Given the description of an element on the screen output the (x, y) to click on. 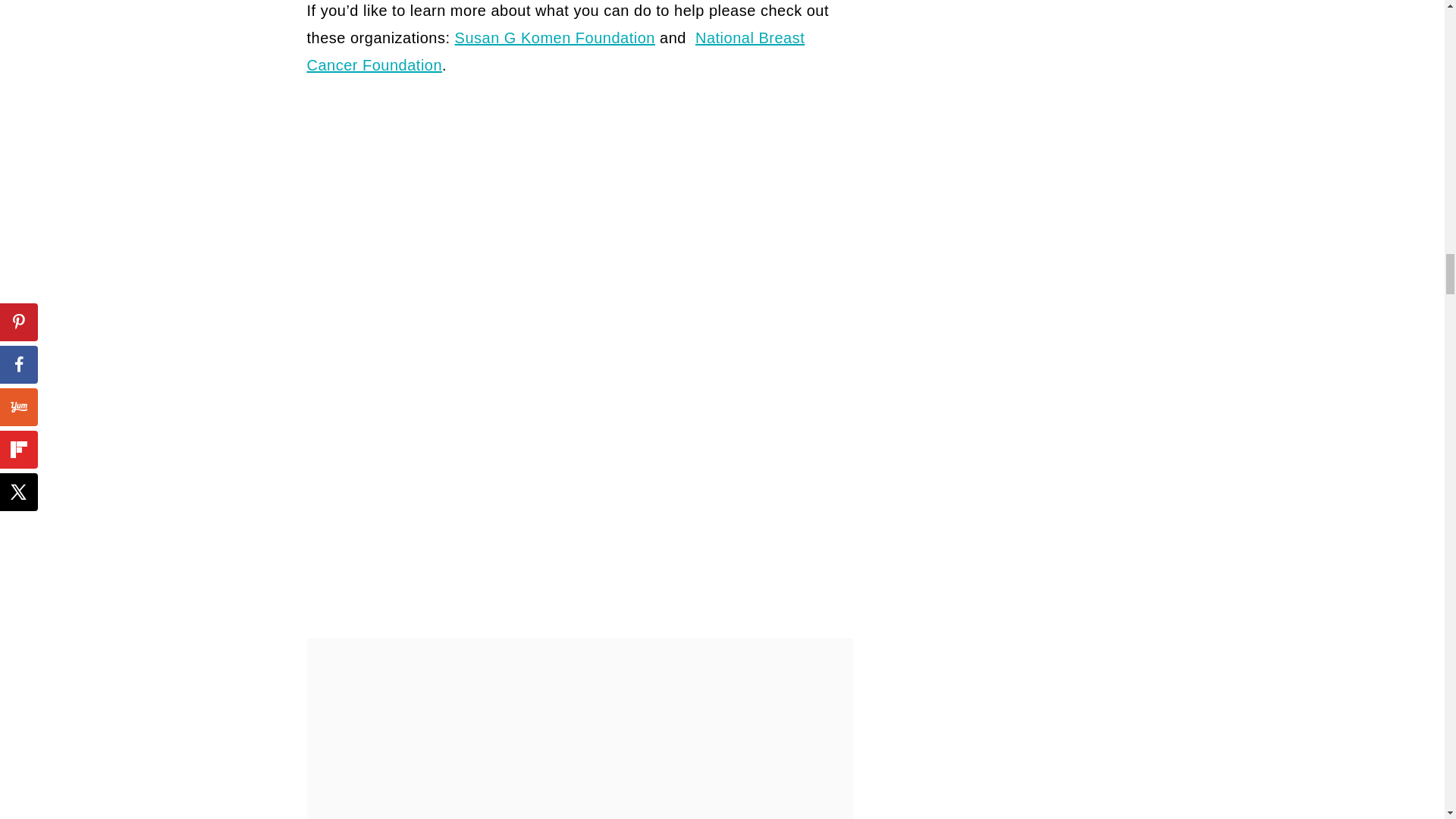
National Breast Cancer Foundation (555, 51)
Susan G Komen Foundation (554, 37)
